Given the description of an element on the screen output the (x, y) to click on. 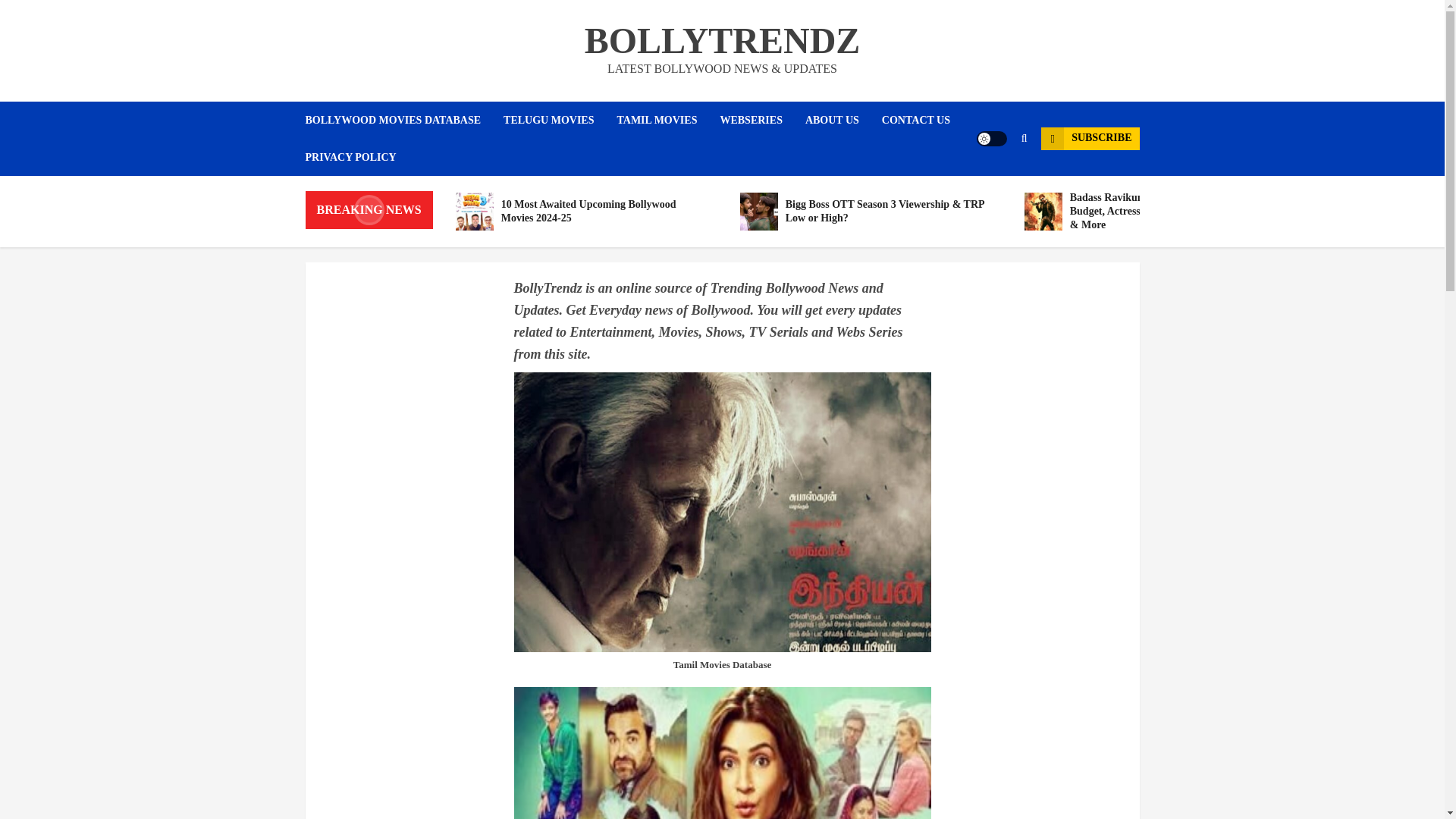
ABOUT US (843, 119)
Search (994, 184)
10 Most Awaited Upcoming Bollywood Movies 2024-25 (583, 211)
BOLLYWOOD MOVIES DATABASE (403, 119)
BOLLYTRENDZ (722, 40)
PRIVACY POLICY (350, 157)
WEBSERIES (762, 119)
Tamil Movies Database (721, 664)
10 Most Awaited Upcoming Bollywood Movies 2024-25 (474, 211)
TAMIL MOVIES (668, 119)
TELUGU MOVIES (559, 119)
SUBSCRIBE (1089, 138)
CONTACT US (927, 119)
